Given the description of an element on the screen output the (x, y) to click on. 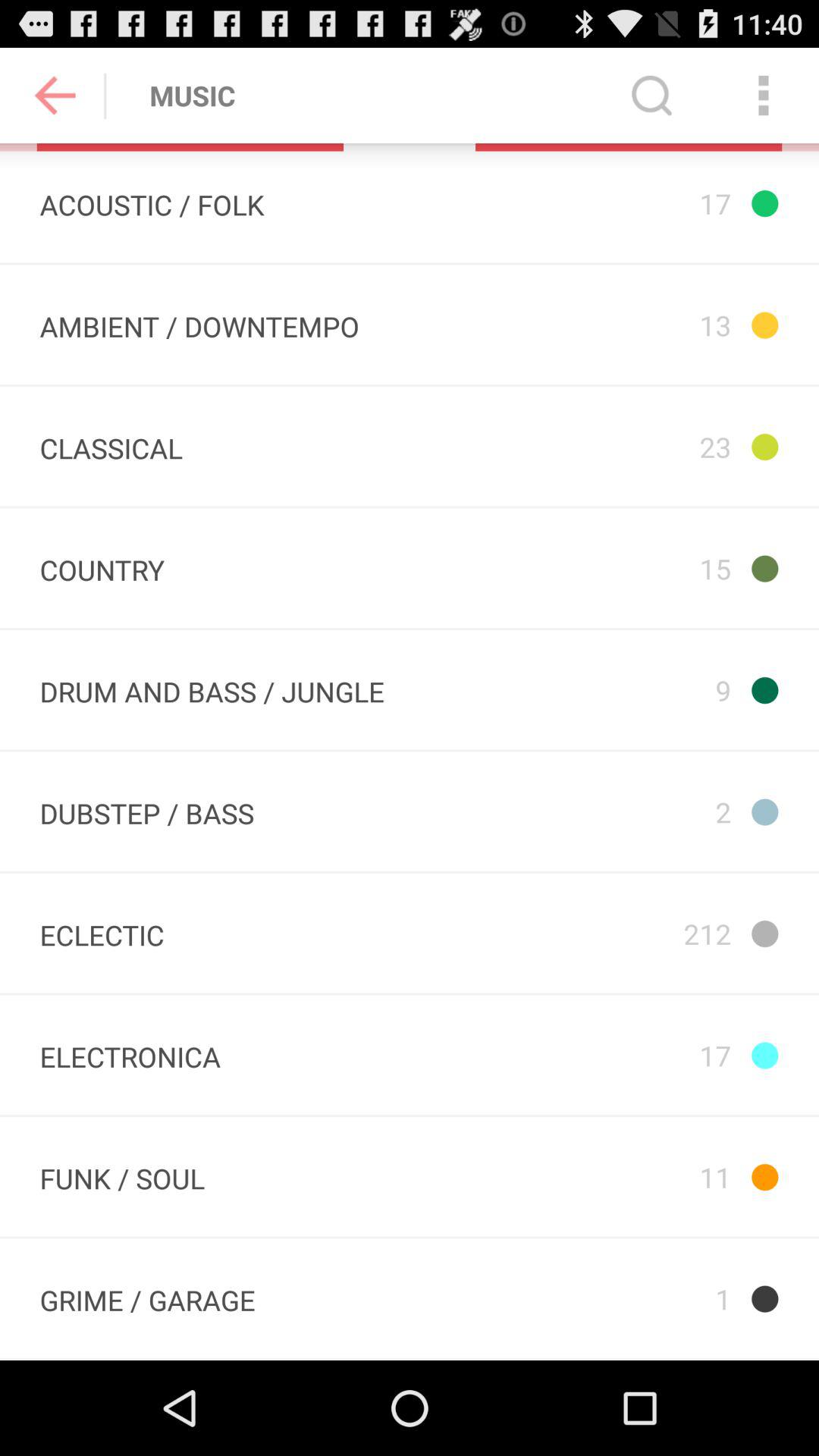
turn on the icon above electronica (102, 933)
